Given the description of an element on the screen output the (x, y) to click on. 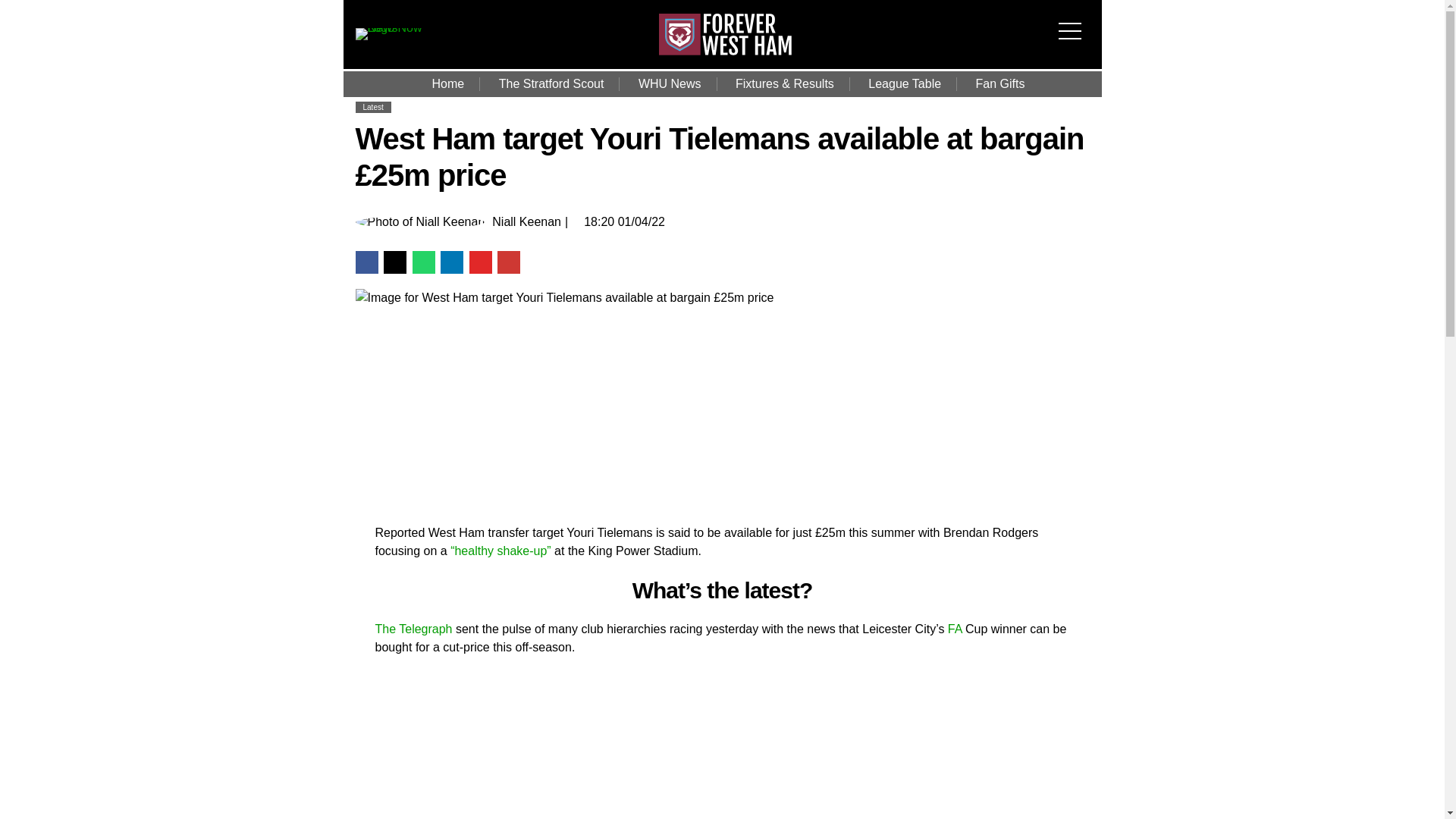
Fan Gifts (1000, 83)
WHU News (669, 83)
share on WhatsApp (423, 261)
Menu (1074, 21)
League Table (904, 83)
The Telegraph (412, 628)
share on Flipboard (480, 261)
The Stratford Scout (551, 83)
share on Facebook (366, 261)
Home (448, 83)
Latest (372, 107)
FA (956, 628)
share on Twitter (395, 261)
Back to the homepage (725, 51)
Niall Keenan (526, 222)
